Given the description of an element on the screen output the (x, y) to click on. 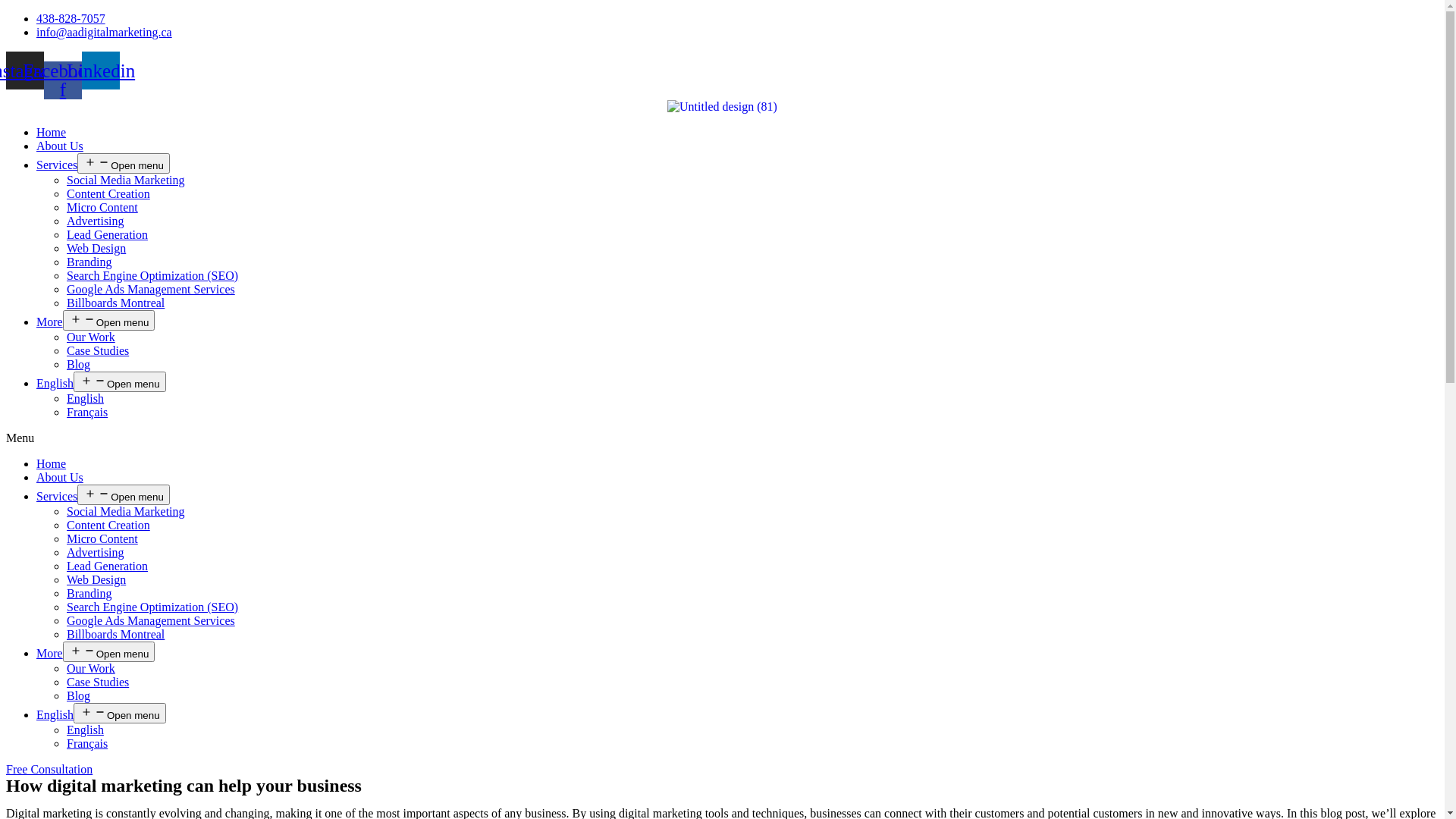
Search Engine Optimization (SEO) Element type: text (152, 606)
Search Engine Optimization (SEO) Element type: text (152, 275)
Billboards Montreal Element type: text (115, 633)
English Element type: text (84, 729)
Facebook-f Element type: text (62, 79)
Our Work Element type: text (90, 668)
Branding Element type: text (89, 592)
More Element type: text (49, 652)
Advertising Element type: text (95, 220)
Instagram Element type: text (24, 70)
Advertising Element type: text (95, 552)
Services Element type: text (56, 164)
Home Element type: text (50, 131)
Open menu Element type: text (123, 163)
Social Media Marketing Element type: text (125, 511)
Blog Element type: text (78, 363)
Case Studies Element type: text (97, 350)
info@aadigitalmarketing.ca Element type: text (104, 31)
Branding Element type: text (89, 261)
English Element type: text (84, 398)
Micro Content Element type: text (102, 538)
Blog Element type: text (78, 695)
Google Ads Management Services Element type: text (150, 288)
Open menu Element type: text (119, 381)
Untitled design (81) Element type: hover (722, 106)
438-828-7057 Element type: text (70, 18)
Social Media Marketing Element type: text (125, 179)
About Us Element type: text (59, 145)
Open menu Element type: text (108, 320)
Content Creation Element type: text (108, 193)
Open menu Element type: text (119, 712)
Services Element type: text (56, 495)
Lead Generation Element type: text (106, 565)
Free Consultation Element type: text (49, 768)
More Element type: text (49, 321)
Open menu Element type: text (108, 651)
Open menu Element type: text (123, 494)
Web Design Element type: text (95, 247)
Micro Content Element type: text (102, 206)
Our Work Element type: text (90, 336)
English Element type: text (54, 714)
Lead Generation Element type: text (106, 234)
Content Creation Element type: text (108, 524)
Case Studies Element type: text (97, 681)
Billboards Montreal Element type: text (115, 302)
Home Element type: text (50, 463)
English Element type: text (54, 382)
Google Ads Management Services Element type: text (150, 620)
Web Design Element type: text (95, 579)
Linkedin Element type: text (100, 70)
About Us Element type: text (59, 476)
